Given the description of an element on the screen output the (x, y) to click on. 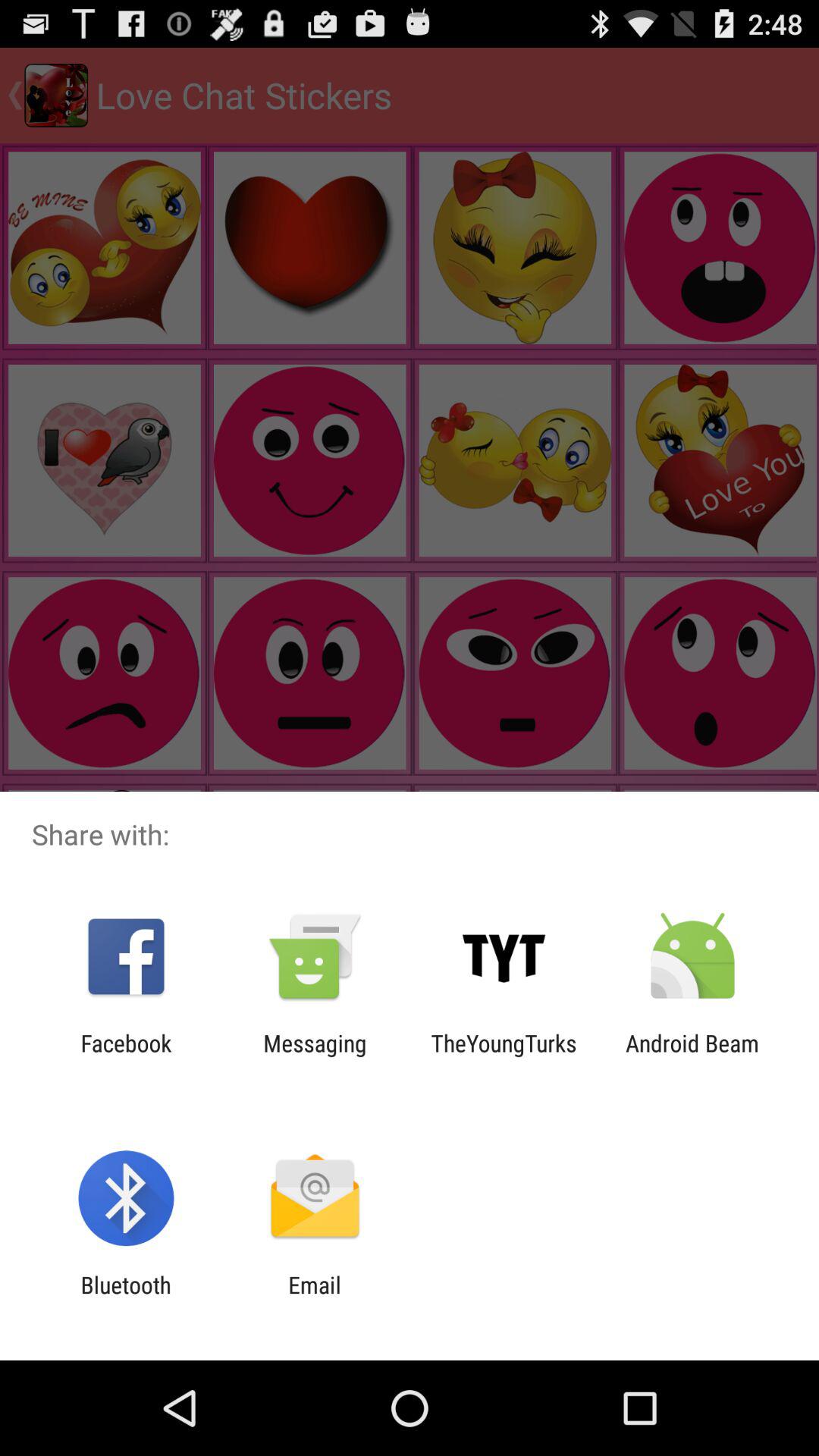
turn off facebook app (125, 1056)
